Given the description of an element on the screen output the (x, y) to click on. 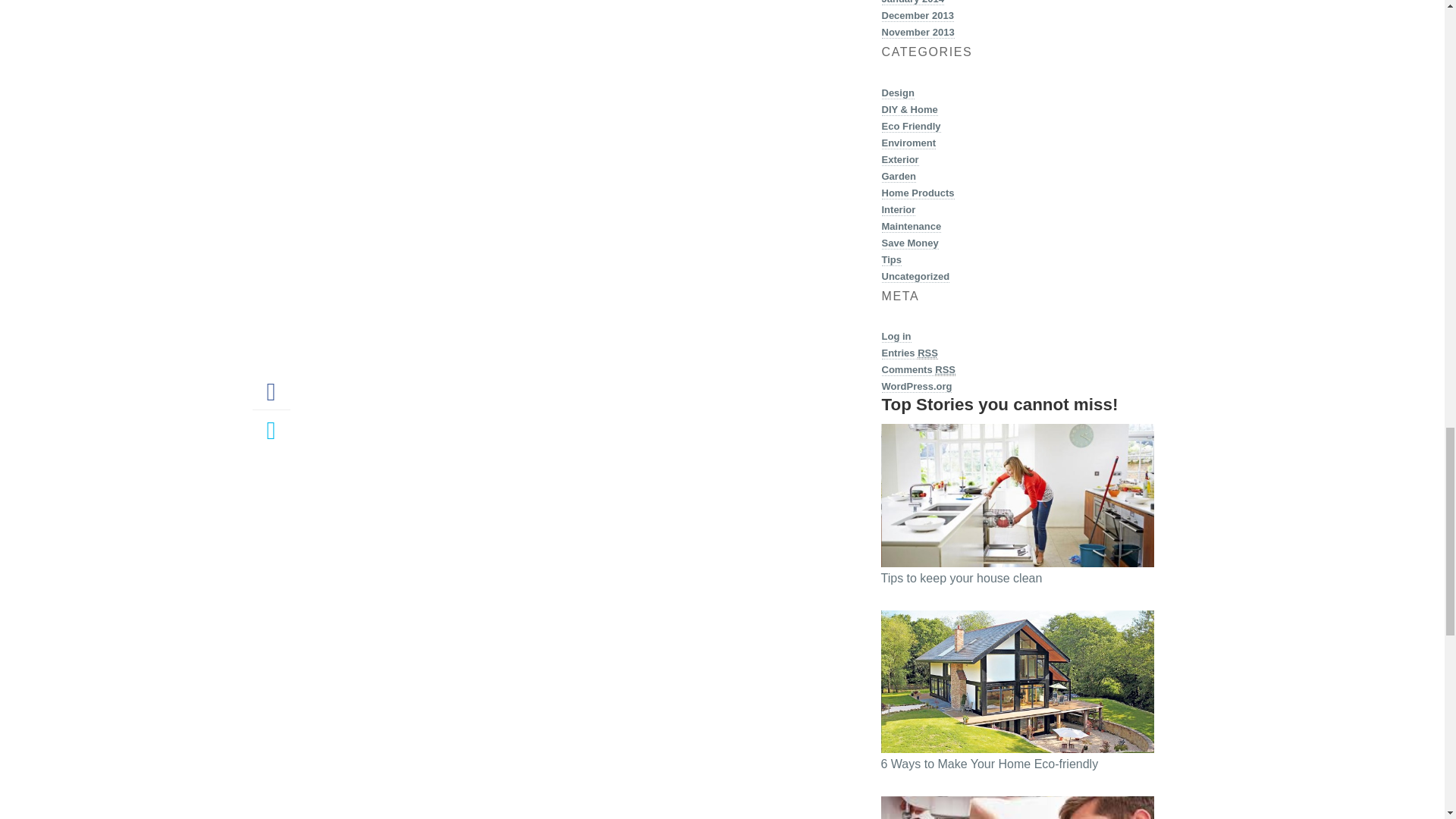
Really Simple Syndication (927, 353)
Really Simple Syndication (944, 369)
